Given the description of an element on the screen output the (x, y) to click on. 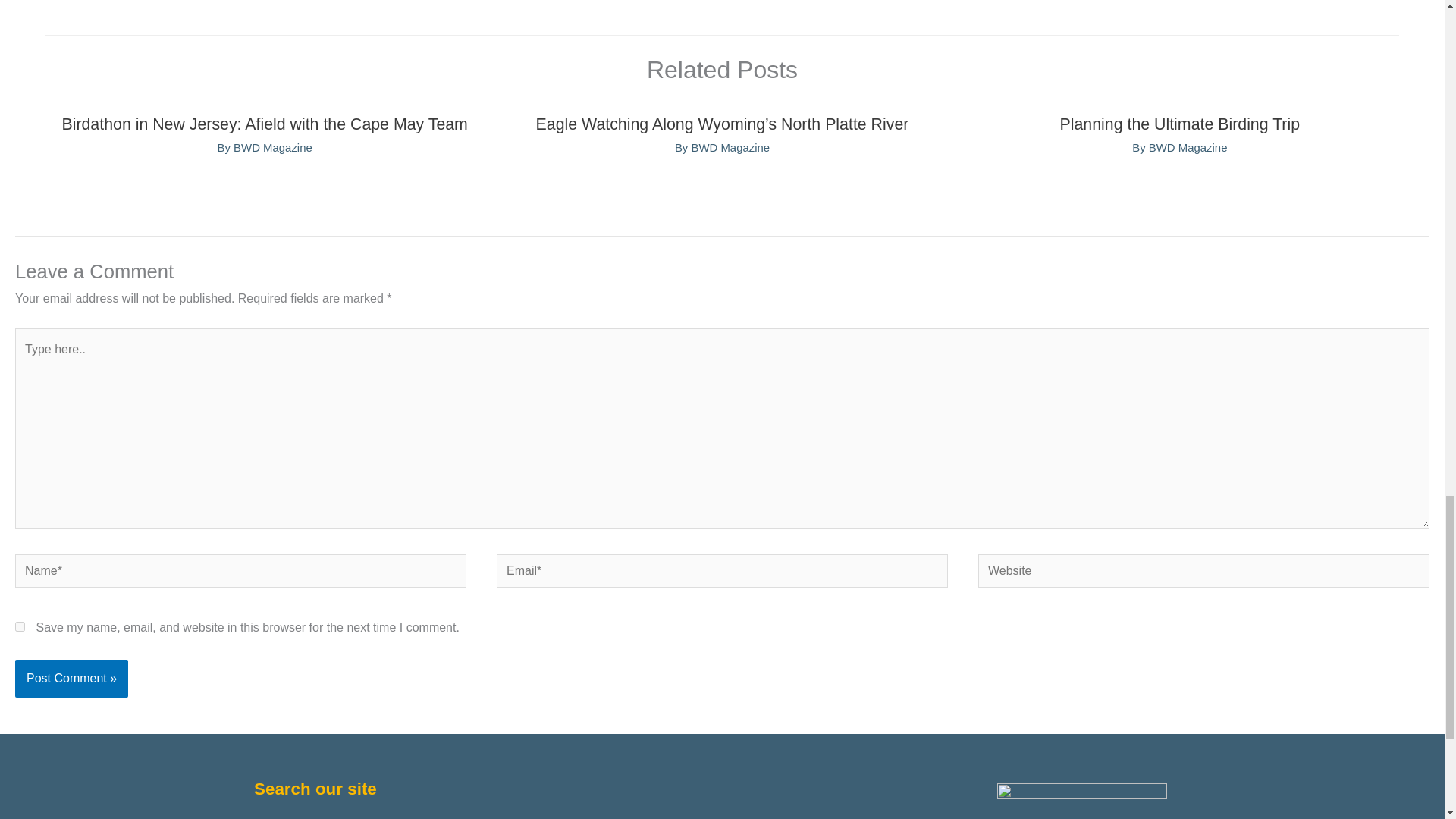
View all posts by BWD Magazine (272, 146)
View all posts by BWD Magazine (730, 146)
yes (19, 626)
View all posts by BWD Magazine (1187, 146)
